Given the description of an element on the screen output the (x, y) to click on. 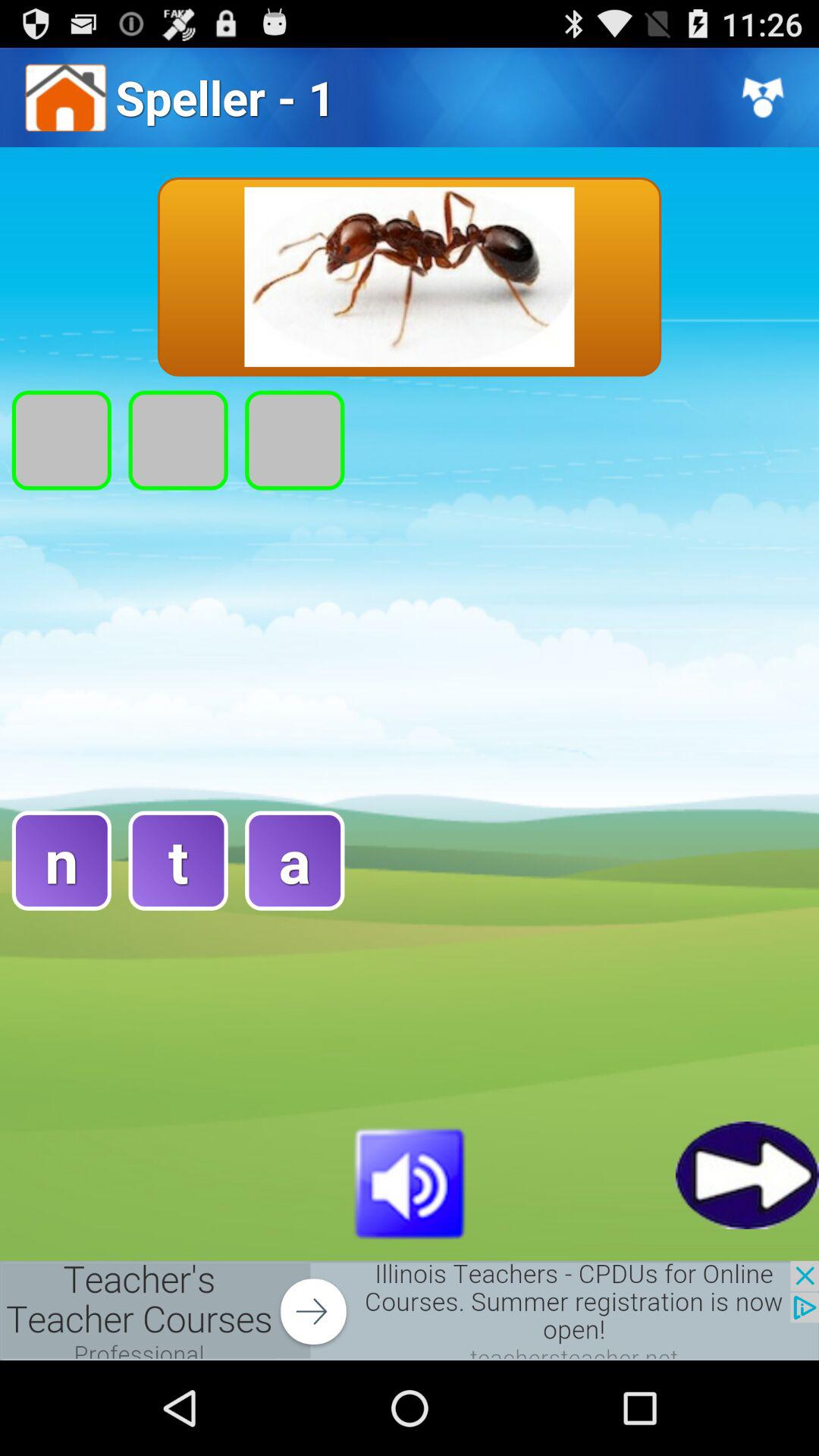
volume selection (409, 1181)
